Given the description of an element on the screen output the (x, y) to click on. 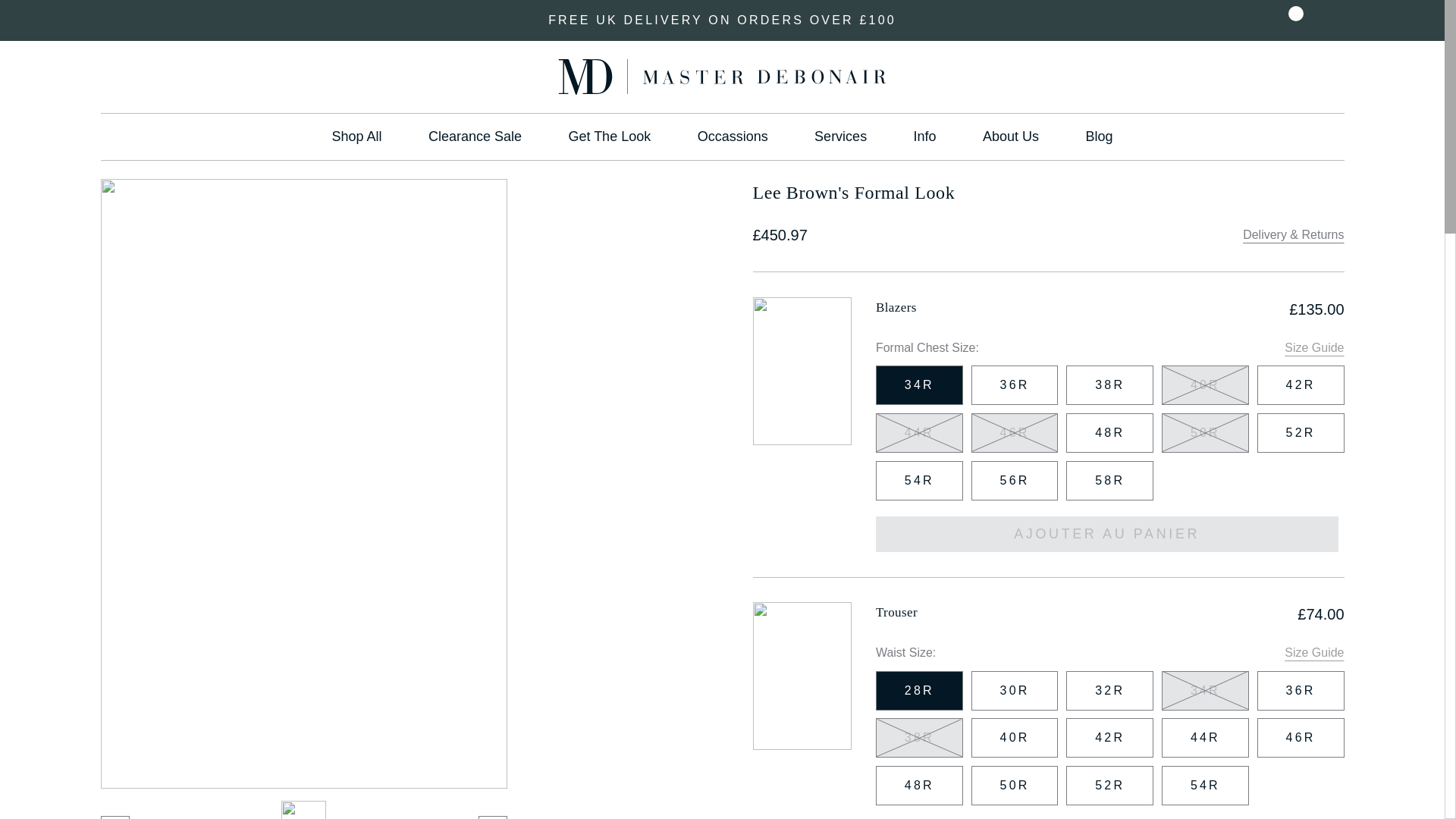
Clearance Sale (474, 136)
Panier (1328, 20)
Master Debonair (722, 76)
Services (839, 136)
Shop All (356, 136)
About Us (1010, 136)
Occassions (732, 136)
